Given the description of an element on the screen output the (x, y) to click on. 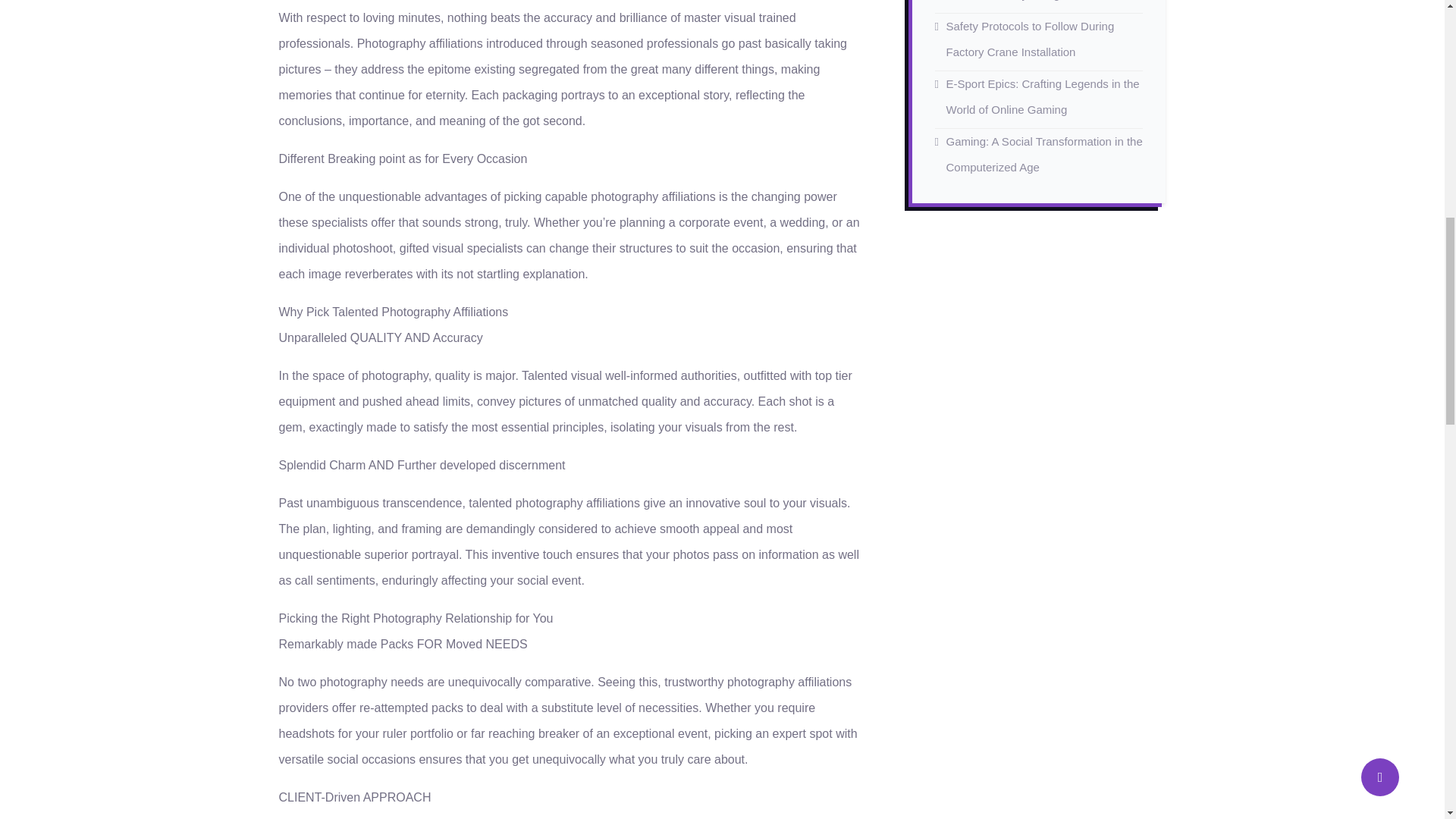
Safety Protocols to Follow During Factory Crane Installation (1030, 38)
Gaming: A Social Transformation in the Computerized Age (1044, 154)
